Given the description of an element on the screen output the (x, y) to click on. 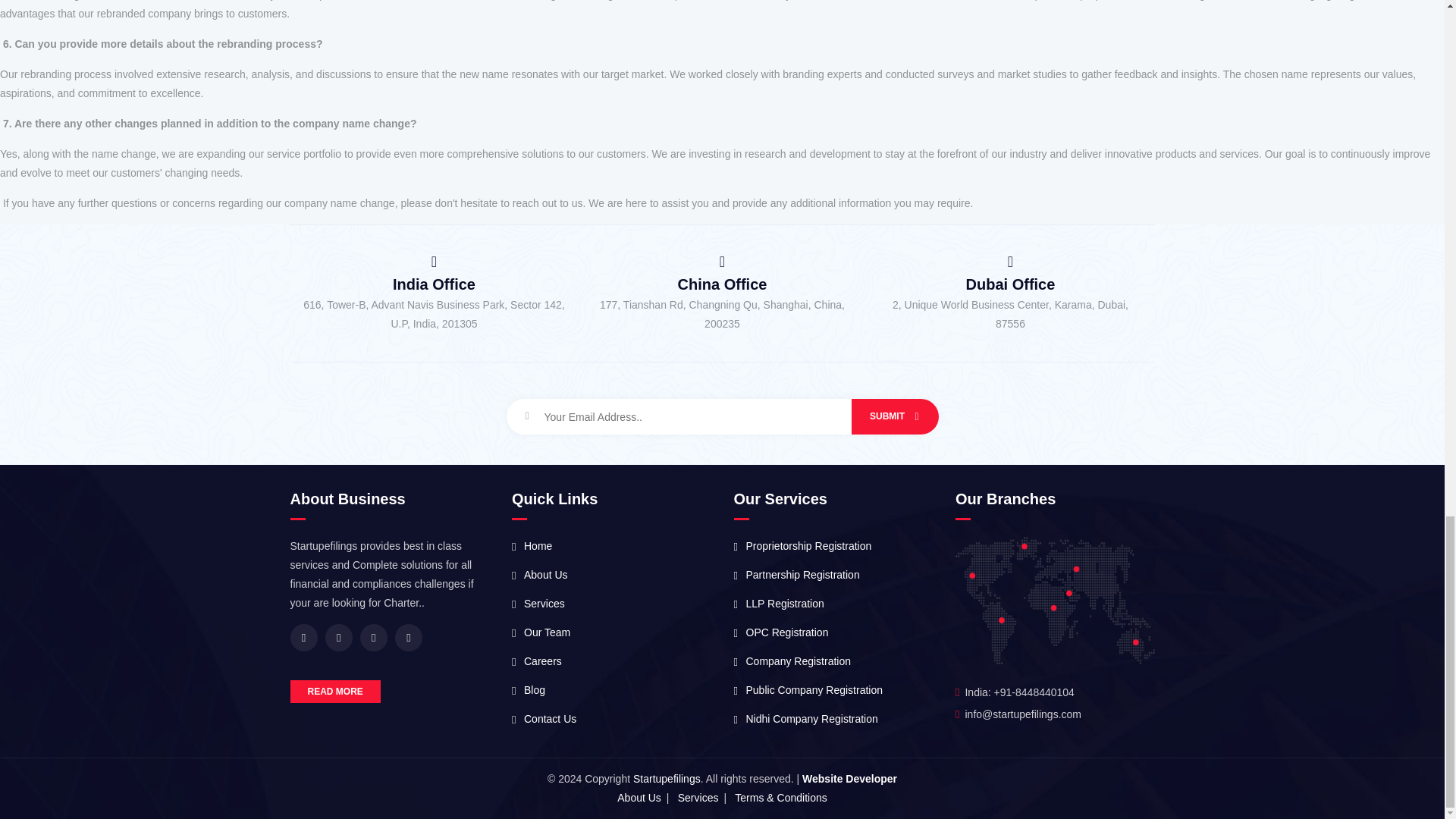
Submit (893, 416)
